Given the description of an element on the screen output the (x, y) to click on. 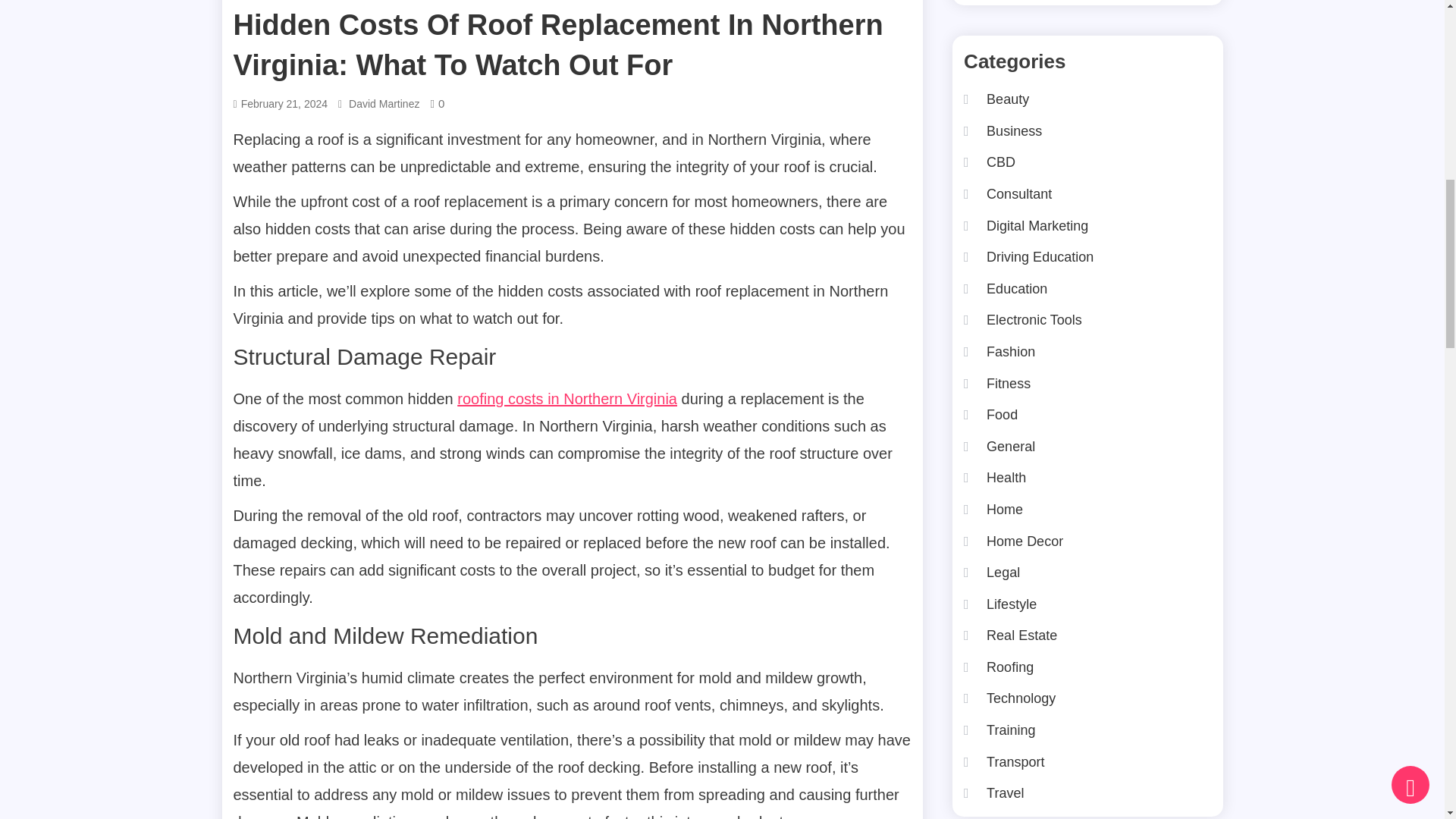
roofing costs in Northern Virginia (567, 398)
David Martinez (384, 104)
February 21, 2024 (284, 104)
